Given the description of an element on the screen output the (x, y) to click on. 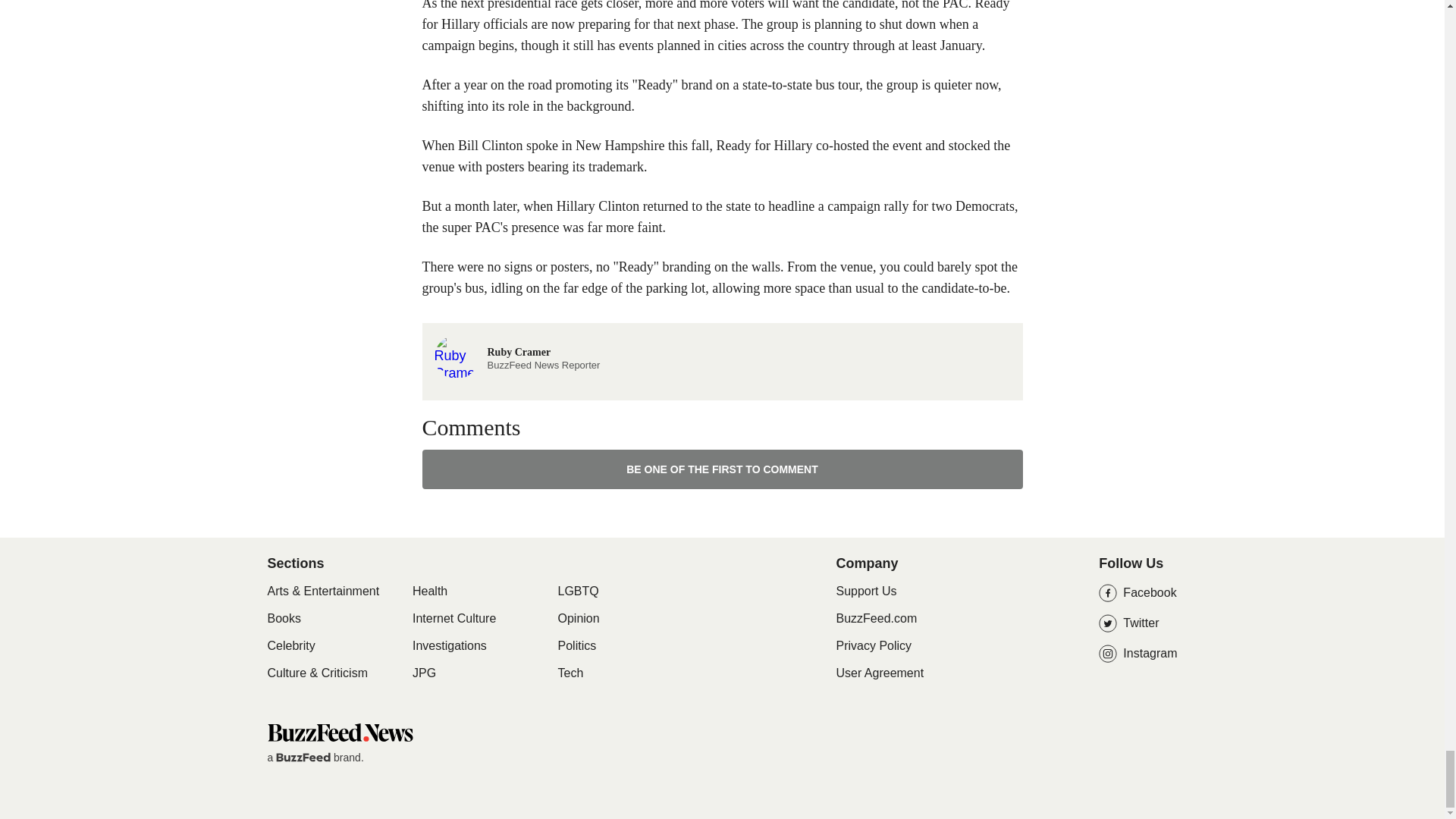
Health (429, 590)
Celebrity (290, 645)
BE ONE OF THE FIRST TO COMMENT (722, 468)
BuzzFeed (303, 757)
Internet Culture (516, 355)
BuzzFeed News Home (454, 618)
Investigations (339, 732)
Books (449, 645)
